Given the description of an element on the screen output the (x, y) to click on. 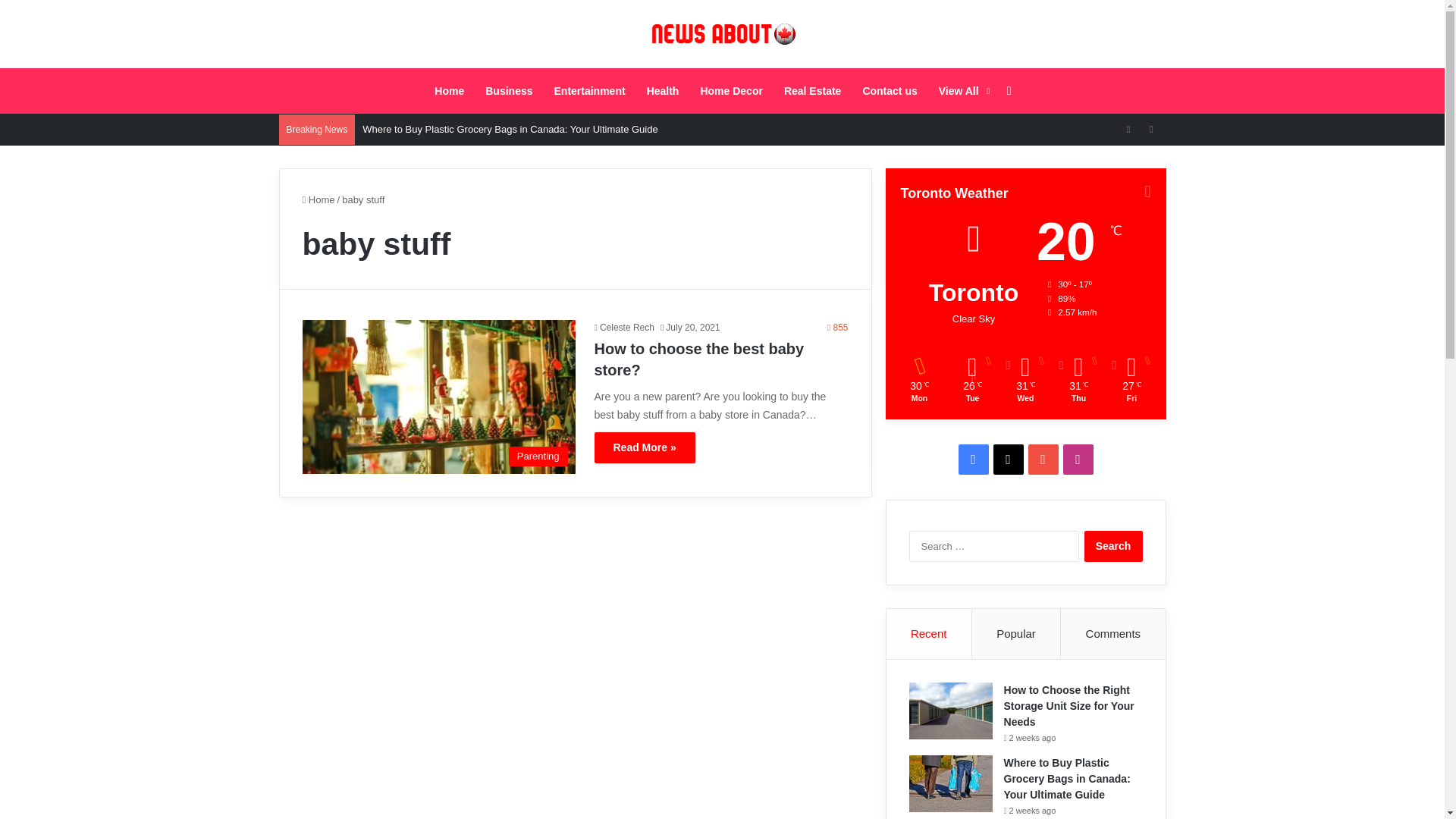
Home (448, 90)
Facebook (973, 459)
Popular (1016, 634)
Comments (1112, 634)
Celeste Rech (623, 327)
Business (508, 90)
Contact us (889, 90)
How to choose the best baby store? (699, 359)
News About CA (721, 34)
Health (663, 90)
Parenting (438, 397)
How to Choose the Right Storage Unit Size for Your Needs (1069, 705)
Celeste Rech (623, 327)
Home Improvement (730, 90)
Home Decor (730, 90)
